Given the description of an element on the screen output the (x, y) to click on. 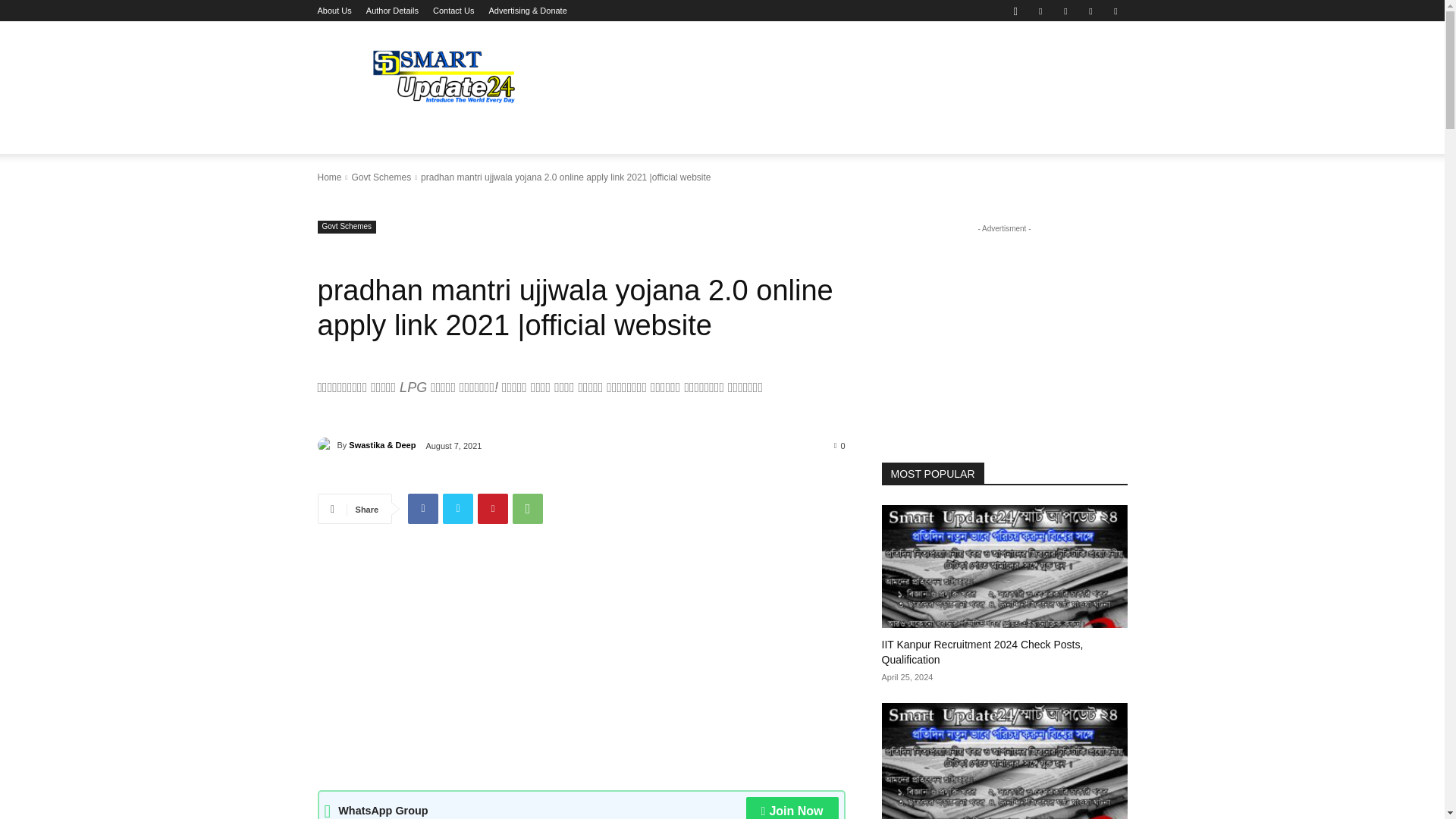
Contact Us (453, 10)
Twitter (1065, 10)
JOB (804, 135)
HOME (343, 135)
Youtube (1114, 10)
Twitter (457, 508)
HEALTH (857, 135)
Pinterest (492, 508)
WhatsApp (1090, 10)
Instagram (1015, 10)
Author Details (392, 10)
GOVT SCHEMES (631, 135)
Linkedin (1040, 10)
EDUCATION (417, 135)
View all posts in Govt Schemes (380, 176)
